Given the description of an element on the screen output the (x, y) to click on. 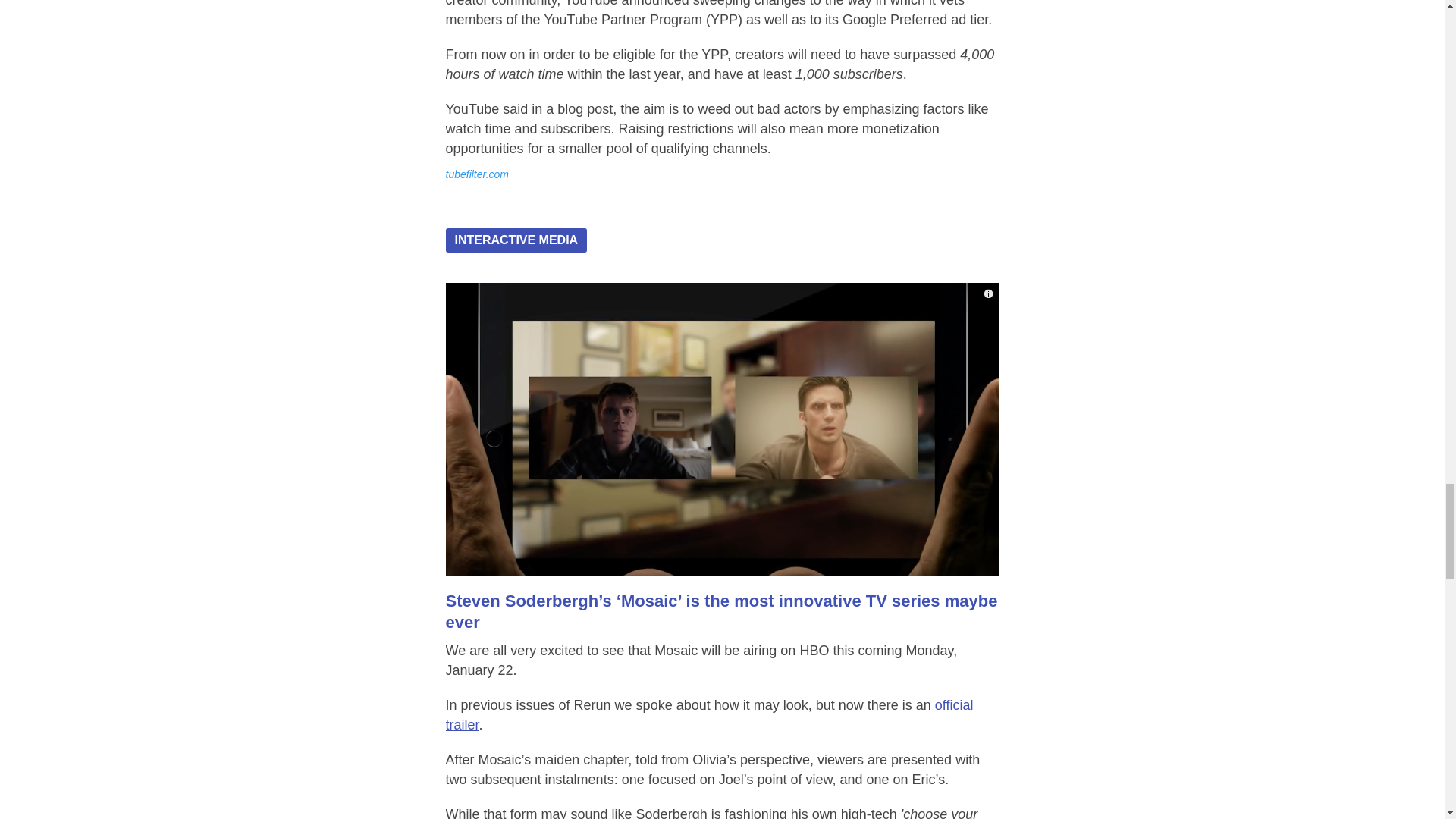
tubefilter.com (477, 174)
